Given the description of an element on the screen output the (x, y) to click on. 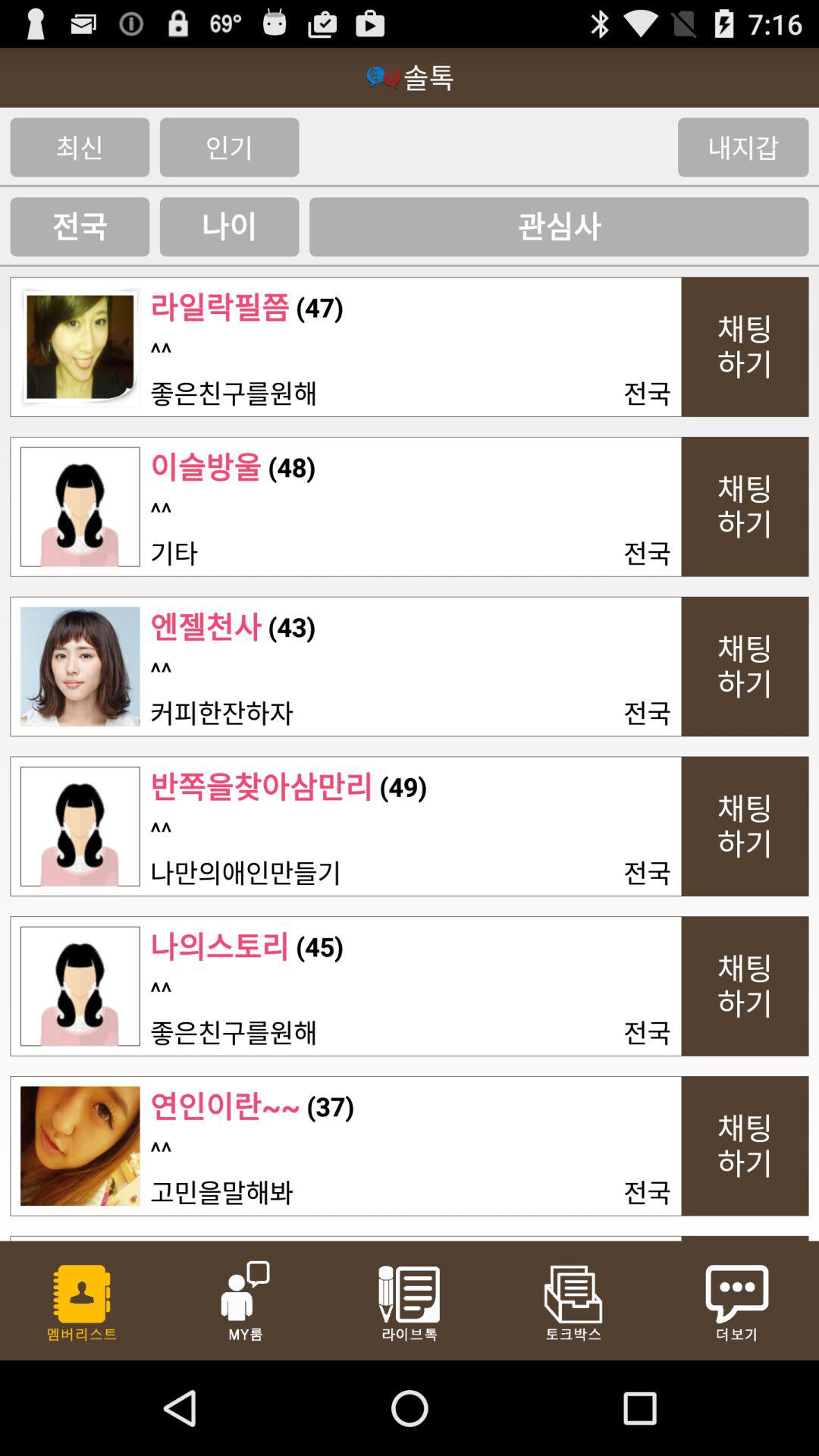
choose item next to  (45) (219, 946)
